Given the description of an element on the screen output the (x, y) to click on. 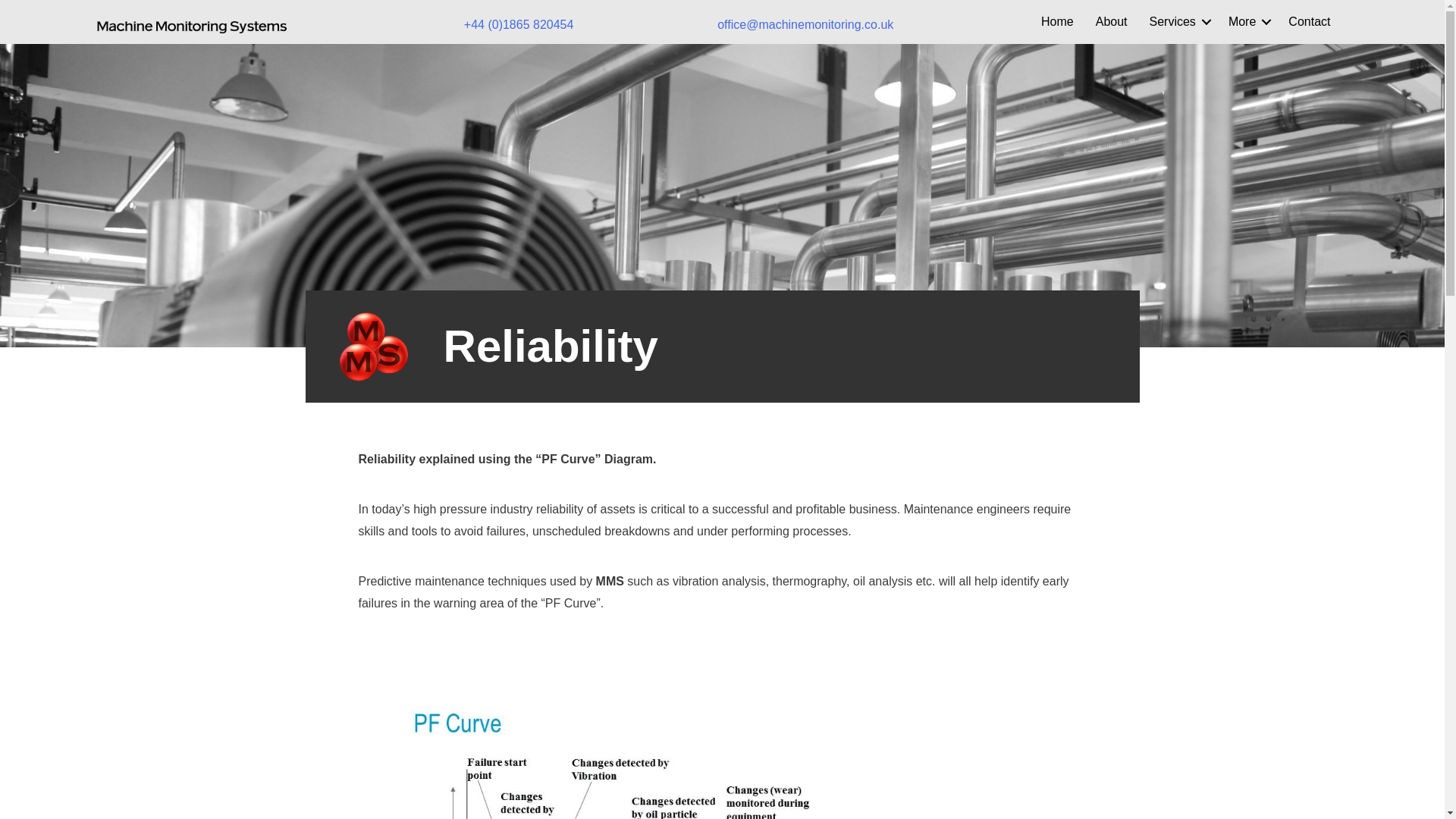
Home (1057, 22)
About (1111, 22)
Logo 1 (372, 346)
Title (191, 26)
PF Curve (657, 743)
More (1246, 22)
Services (1177, 22)
Contact (1309, 22)
